Given the description of an element on the screen output the (x, y) to click on. 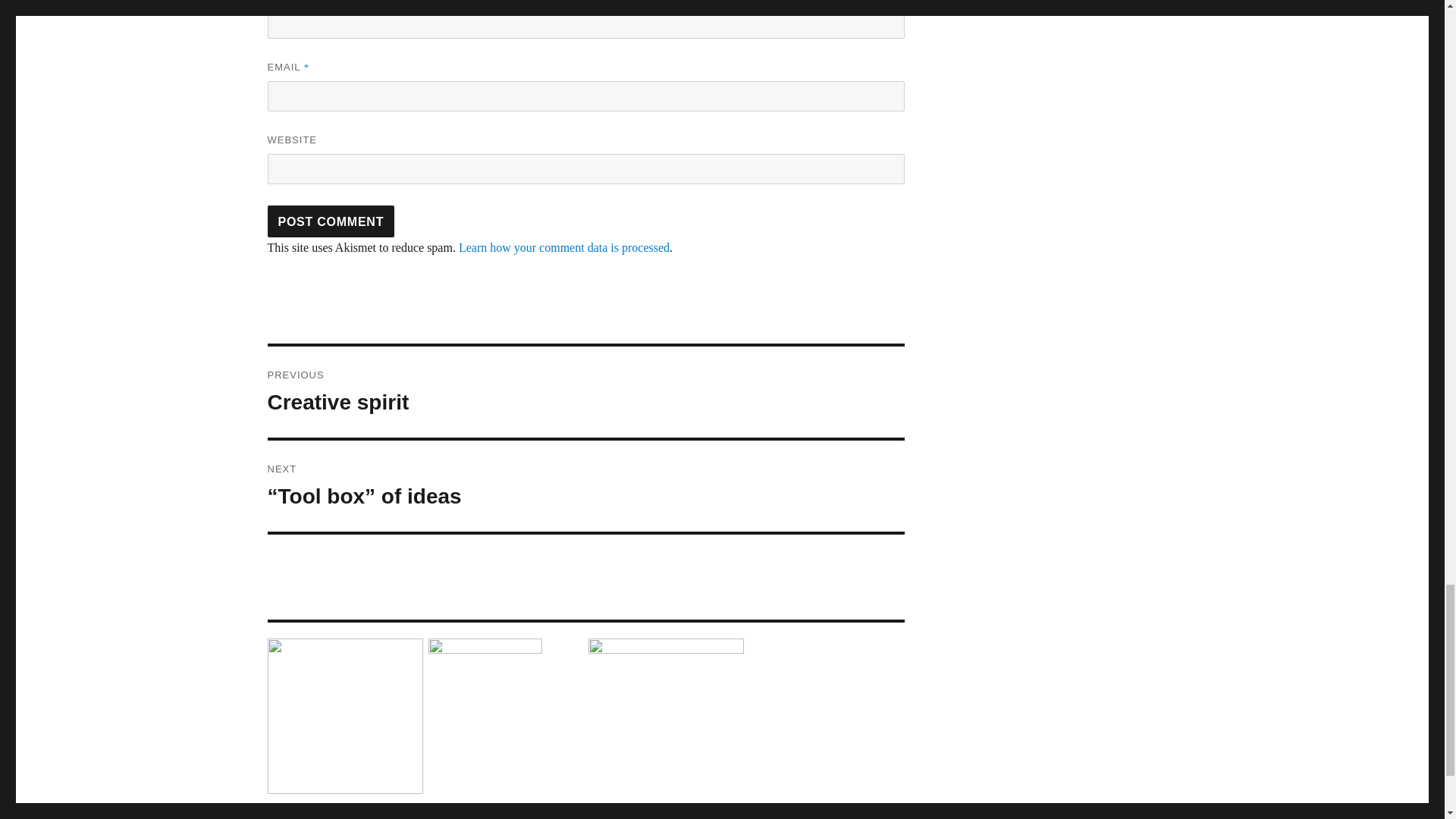
Post Comment (330, 221)
Post Comment (585, 391)
Learn how your comment data is processed (330, 221)
